Given the description of an element on the screen output the (x, y) to click on. 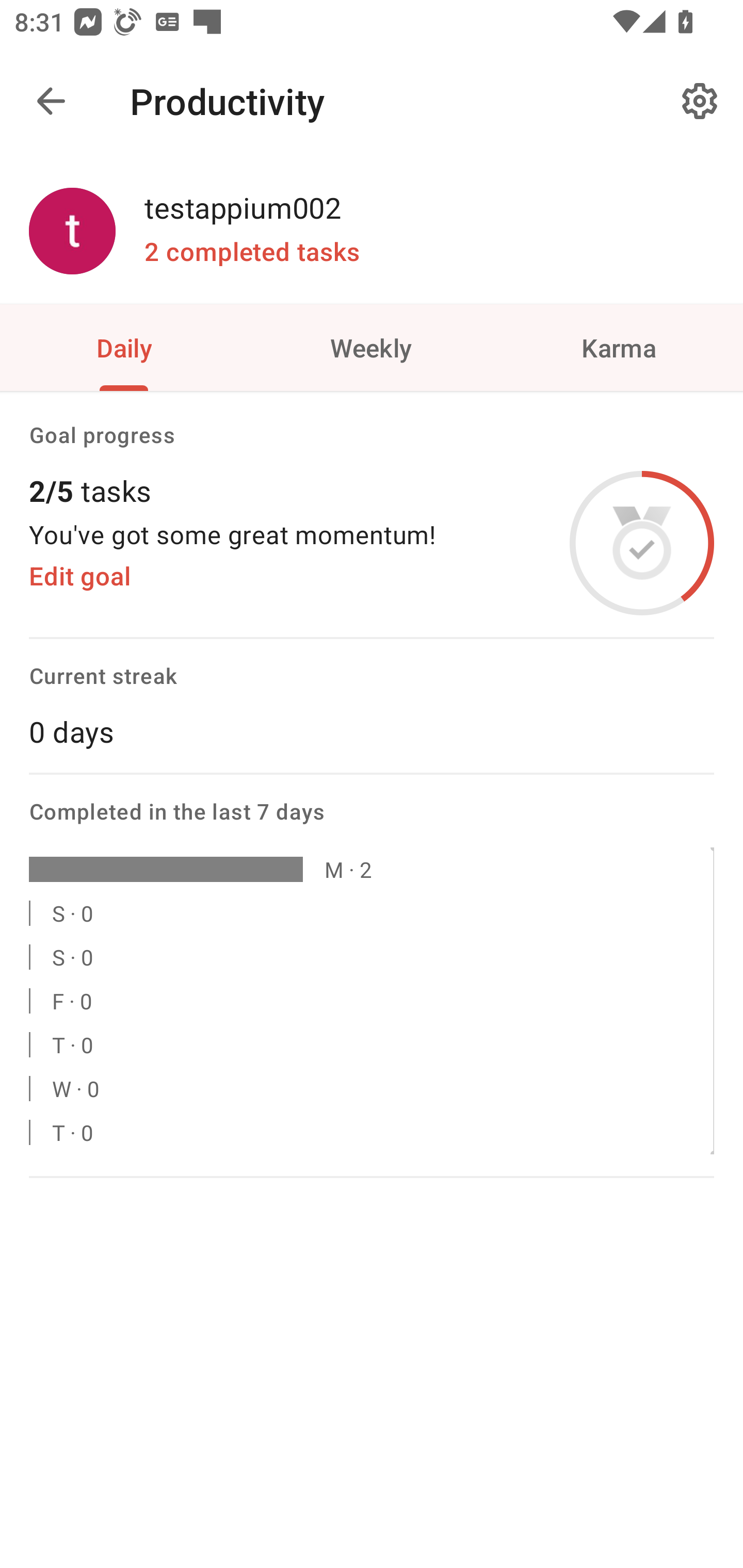
Navigate up (50, 101)
Settings (699, 101)
2 completed tasks (252, 251)
Weekly (371, 347)
Karma (619, 347)
Edit goal (79, 575)
